Given the description of an element on the screen output the (x, y) to click on. 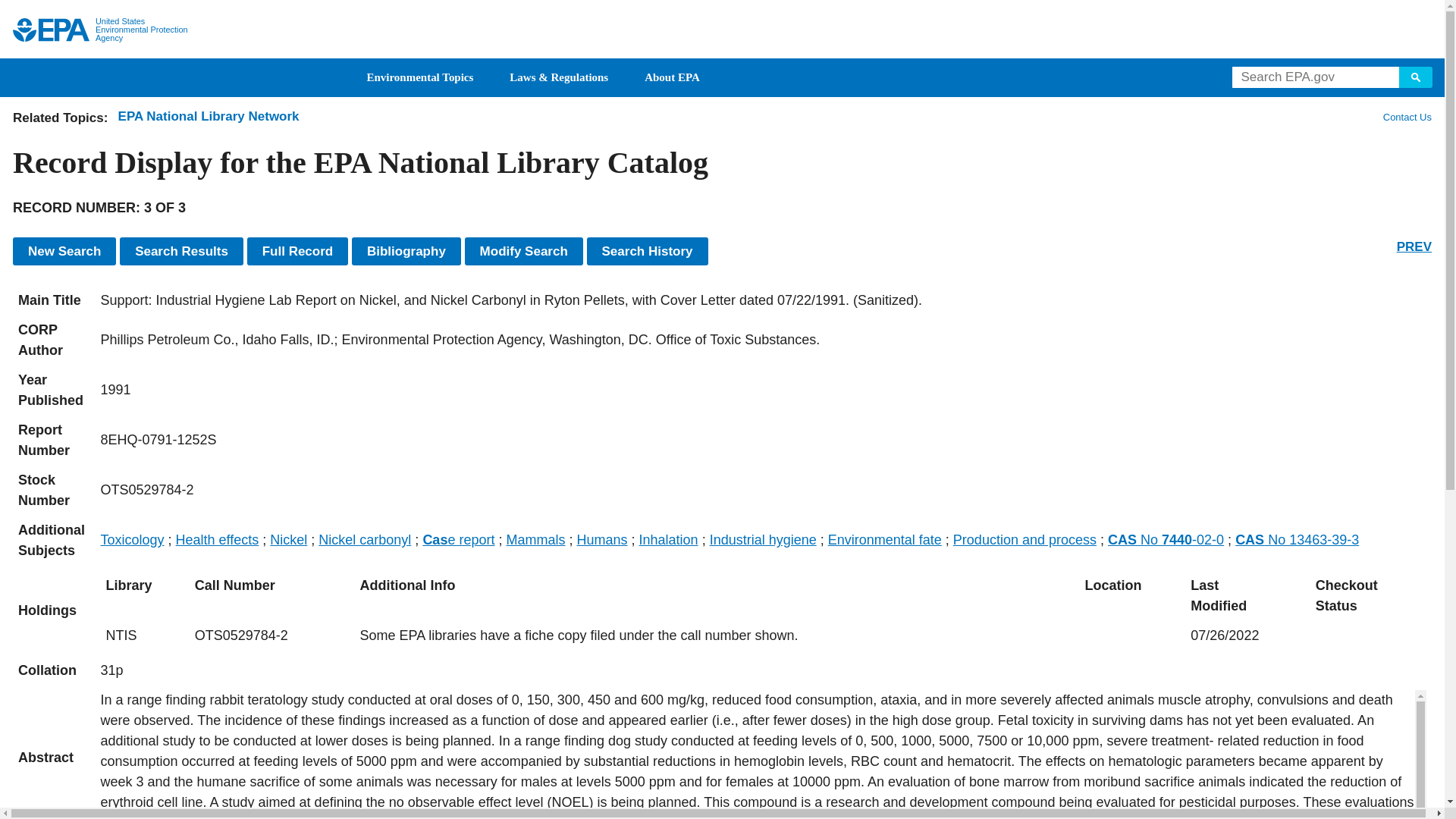
Environmental Topics (420, 77)
Jump to main content (723, 9)
CAS No 13463-39-3 (1296, 539)
US EPA (50, 29)
Health effects (217, 539)
Show results in standard format (181, 251)
Modify Search (523, 251)
EPA National Library Network (208, 115)
Create a New Search (64, 251)
New Search (64, 251)
